Given the description of an element on the screen output the (x, y) to click on. 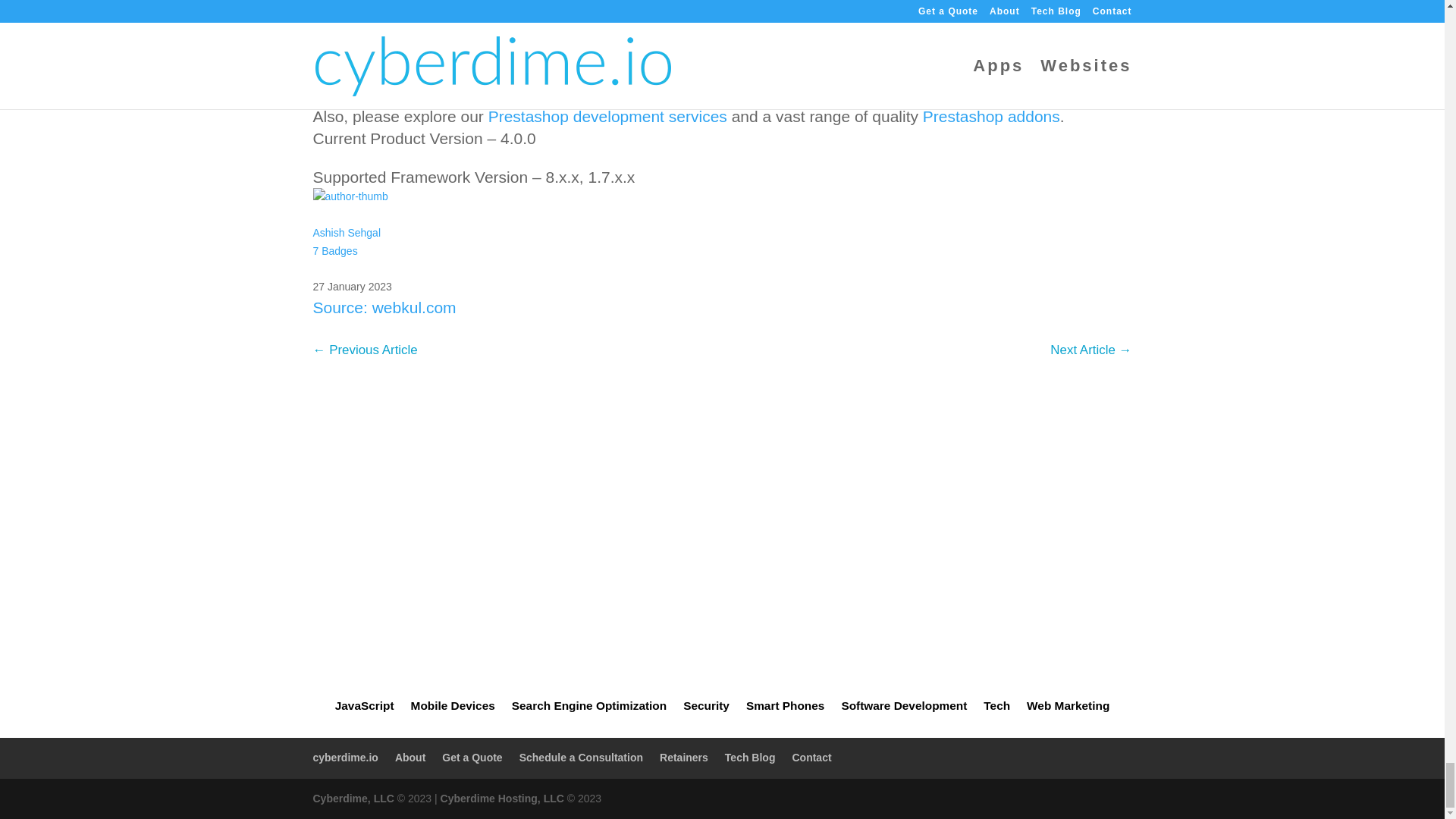
Prestashop addons (991, 116)
Source: webkul.com (384, 307)
raise a ticket (731, 77)
Prestashop development services (346, 250)
